Given the description of an element on the screen output the (x, y) to click on. 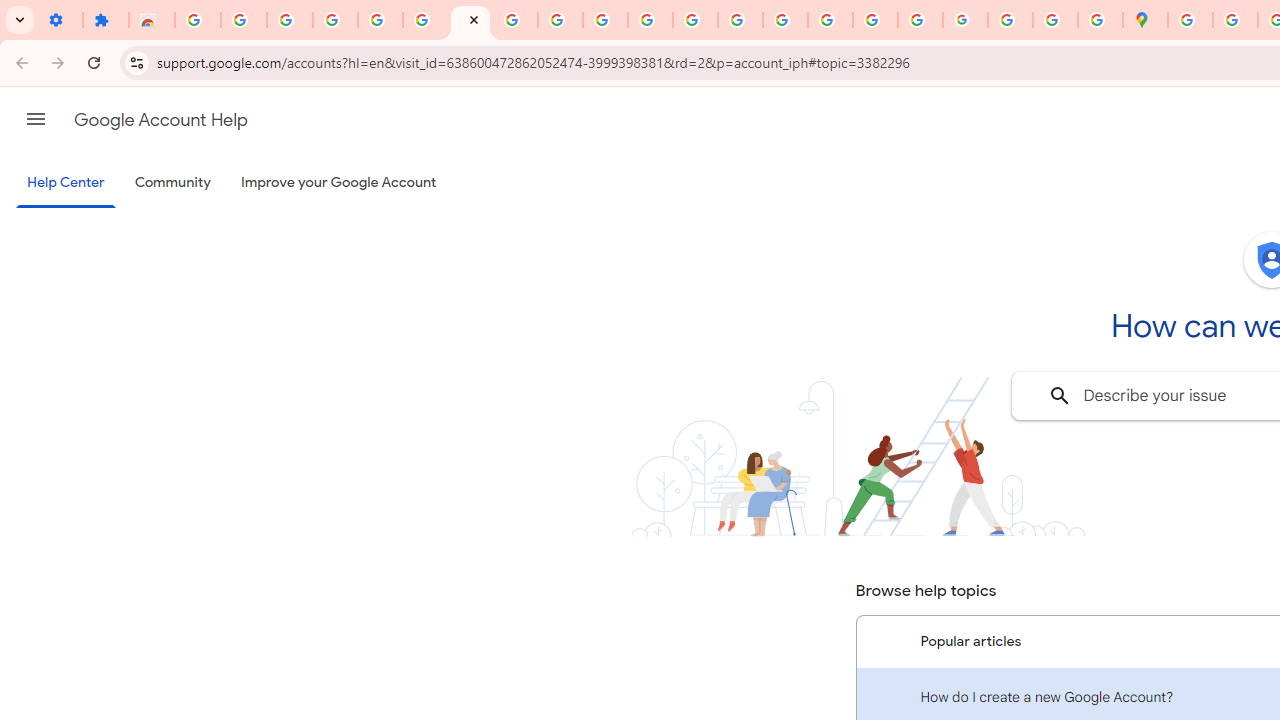
https://scholar.google.com/ (695, 20)
Delete photos & videos - Computer - Google Photos Help (244, 20)
Sign in - Google Accounts (380, 20)
Google Account Help (470, 20)
Improve your Google Account (339, 183)
Privacy Help Center - Policies Help (784, 20)
Reviews: Helix Fruit Jump Arcade Game (152, 20)
